Given the description of an element on the screen output the (x, y) to click on. 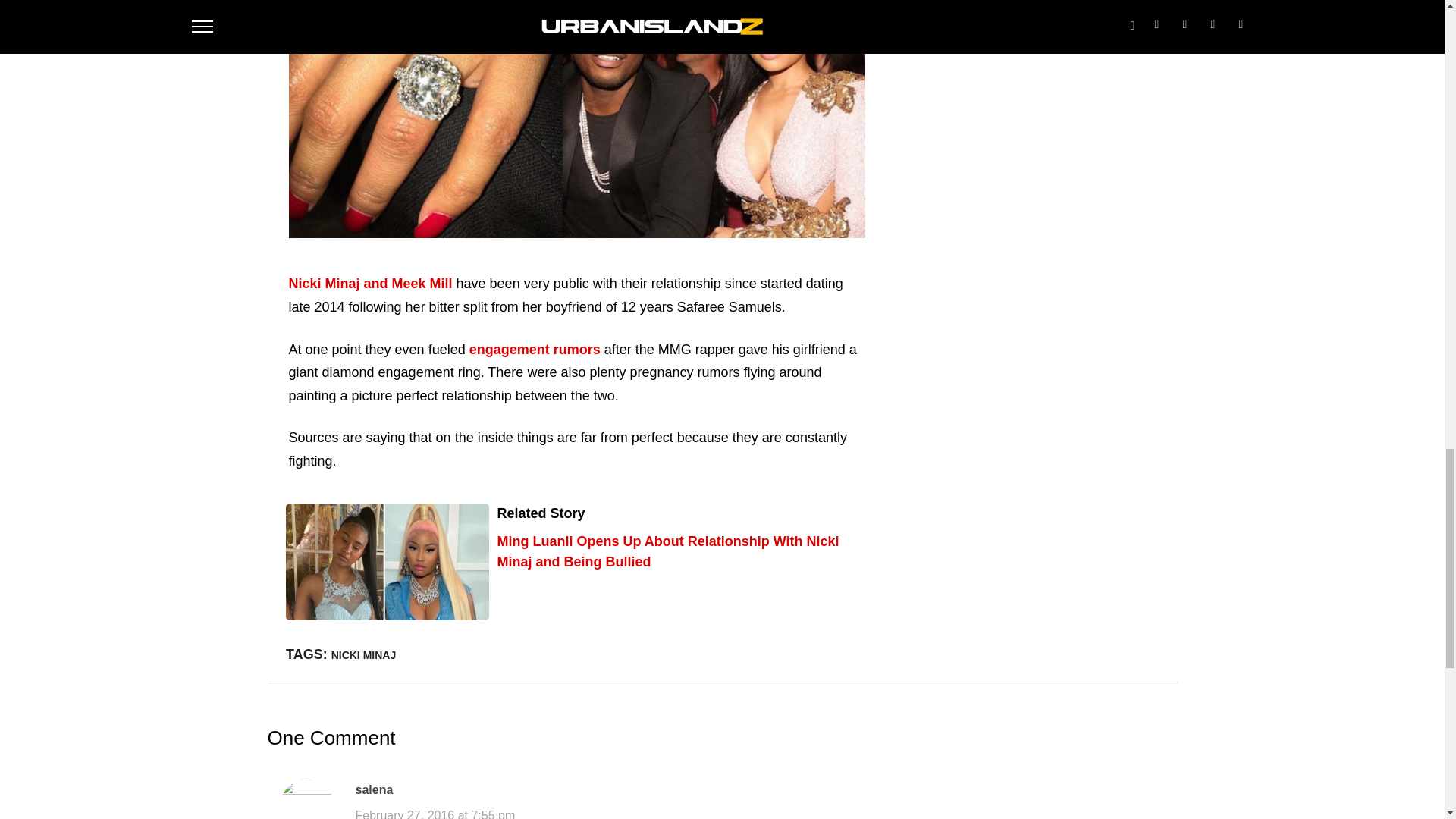
Nicki Minaj and Meek Mill (369, 283)
engagement rumors (533, 349)
